Given the description of an element on the screen output the (x, y) to click on. 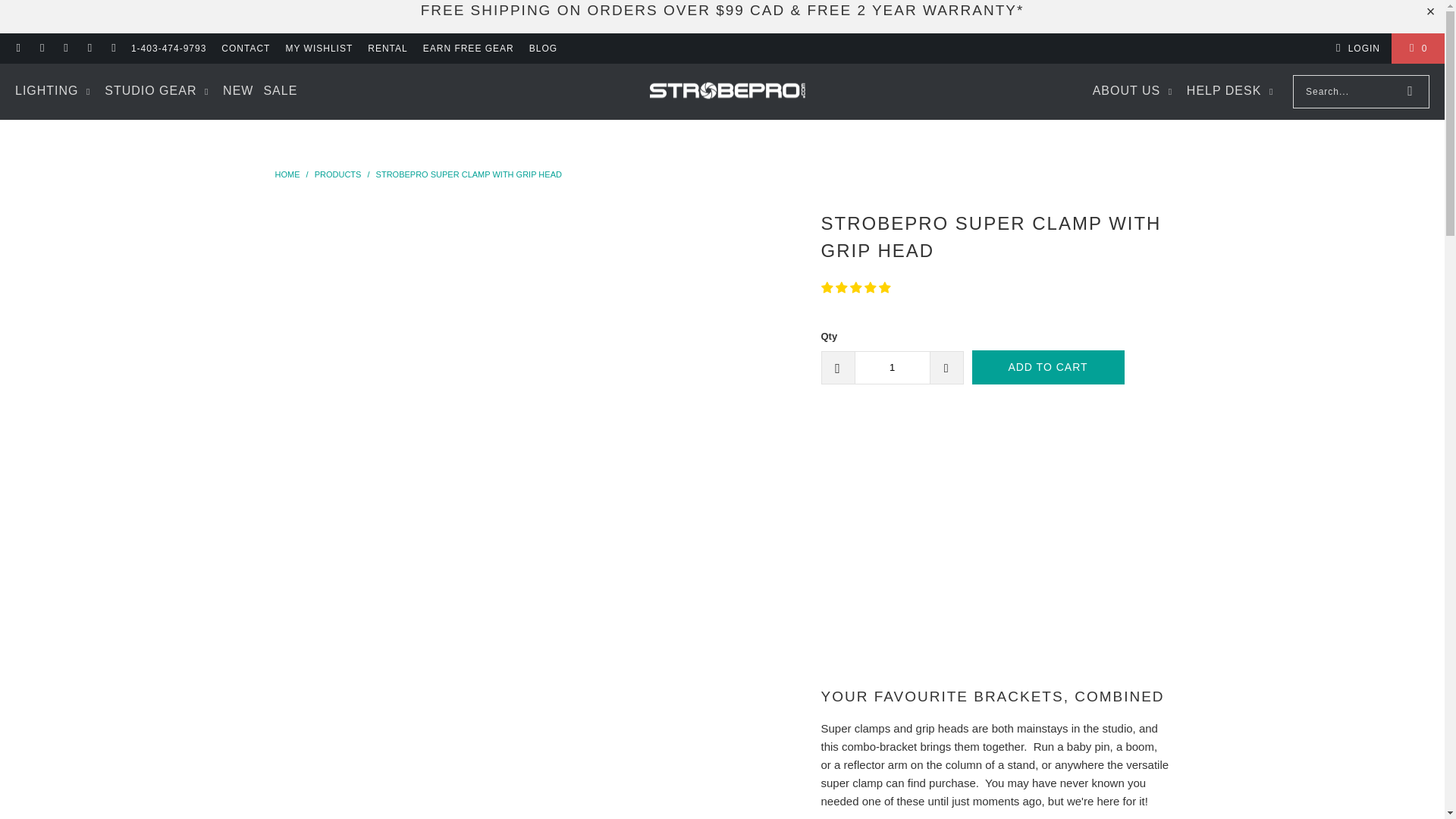
Strobepro Studio Lighting on Instagram (65, 47)
Products (339, 174)
Strobepro Studio Lighting on YouTube (112, 47)
Strobepro Studio Lighting (727, 92)
Strobepro Studio Lighting on Facebook (41, 47)
Strobepro Studio Lighting on Twitter (89, 47)
Strobepro Studio Lighting (288, 174)
YouTube video player (1032, 548)
1 (891, 367)
My Account  (1355, 48)
